Given the description of an element on the screen output the (x, y) to click on. 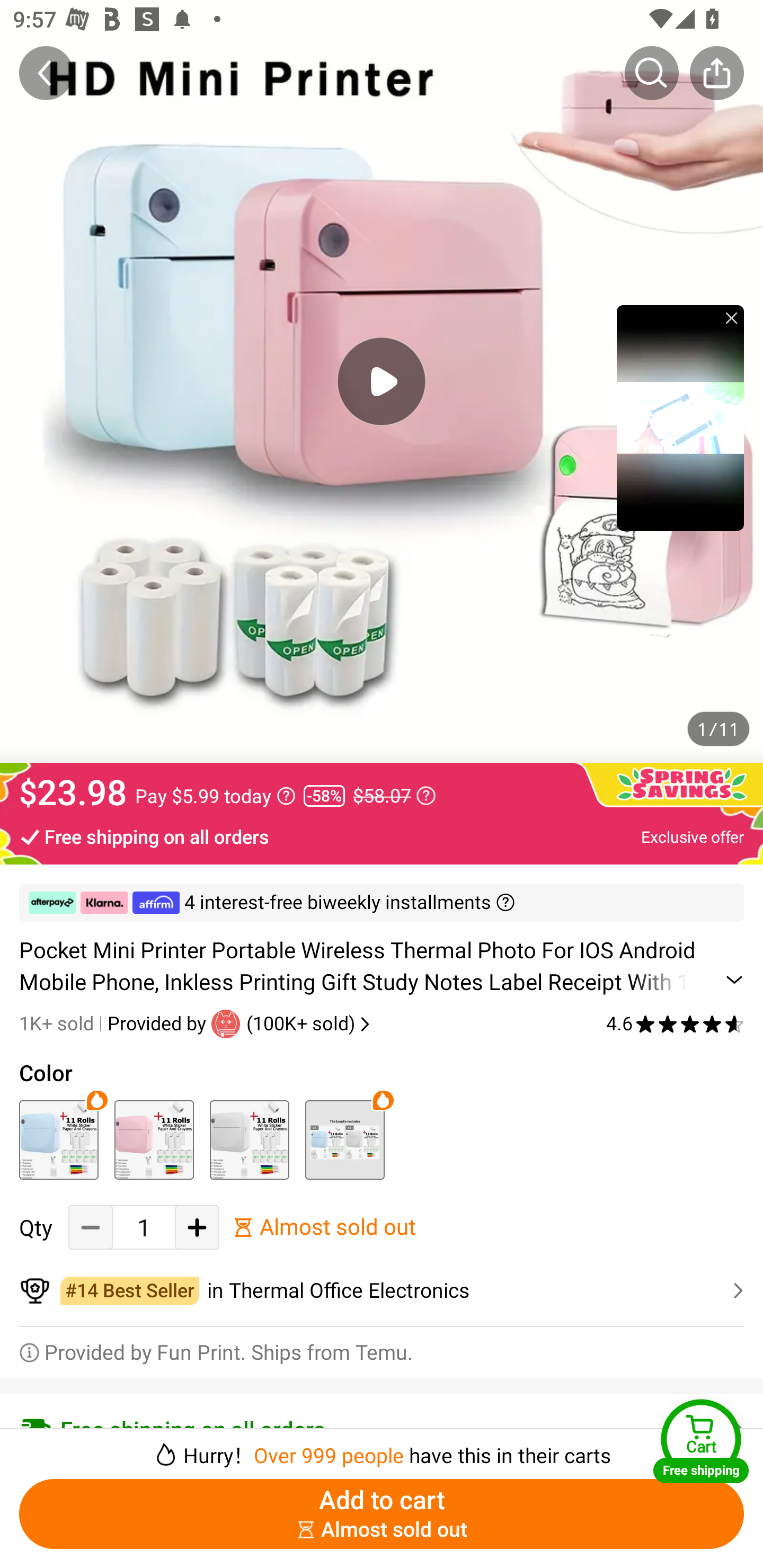
Back (46, 72)
Share (716, 72)
tronplayer_view (680, 417)
Pay $5.99 today   (215, 795)
Free shipping on all orders Exclusive offer (381, 836)
￼ ￼ ￼ 4 interest-free biweekly installments ￼ (381, 902)
4.6 (674, 1023)
Blue   (58, 1139)
Light Pink (153, 1139)
White (249, 1139)
Blue+White   (344, 1139)
Decrease Quantity Button (90, 1227)
1 (143, 1227)
Add Quantity button (196, 1227)
￼￼in Thermal Office Electronics (381, 1290)
Cart Free shipping Cart (701, 1440)
￼￼Hurry！Over 999 people have this in their carts (381, 1448)
Add to cart ￼￼Almost sold out (381, 1513)
